Given the description of an element on the screen output the (x, y) to click on. 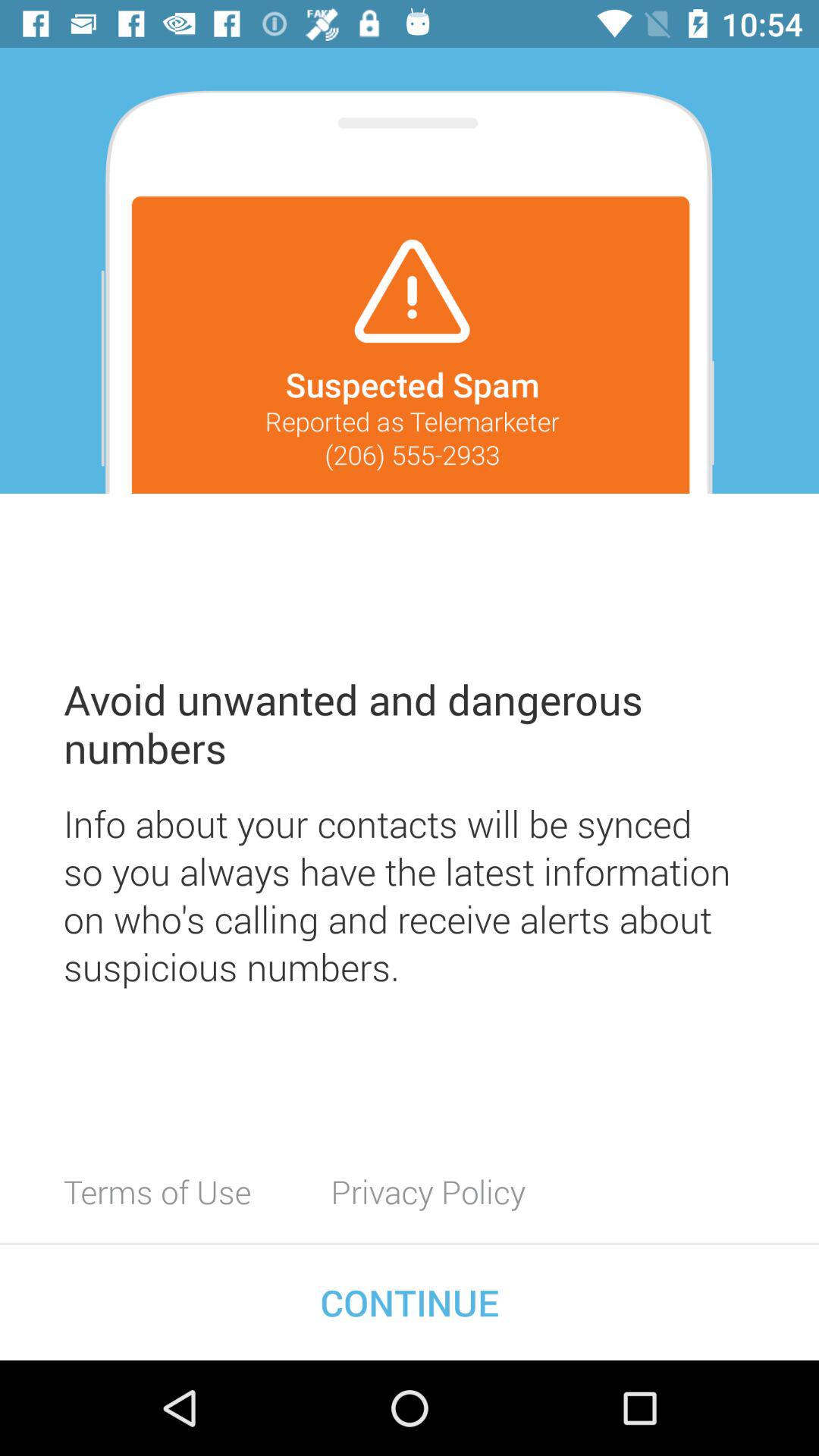
turn off the item next to the terms of use (428, 1191)
